Given the description of an element on the screen output the (x, y) to click on. 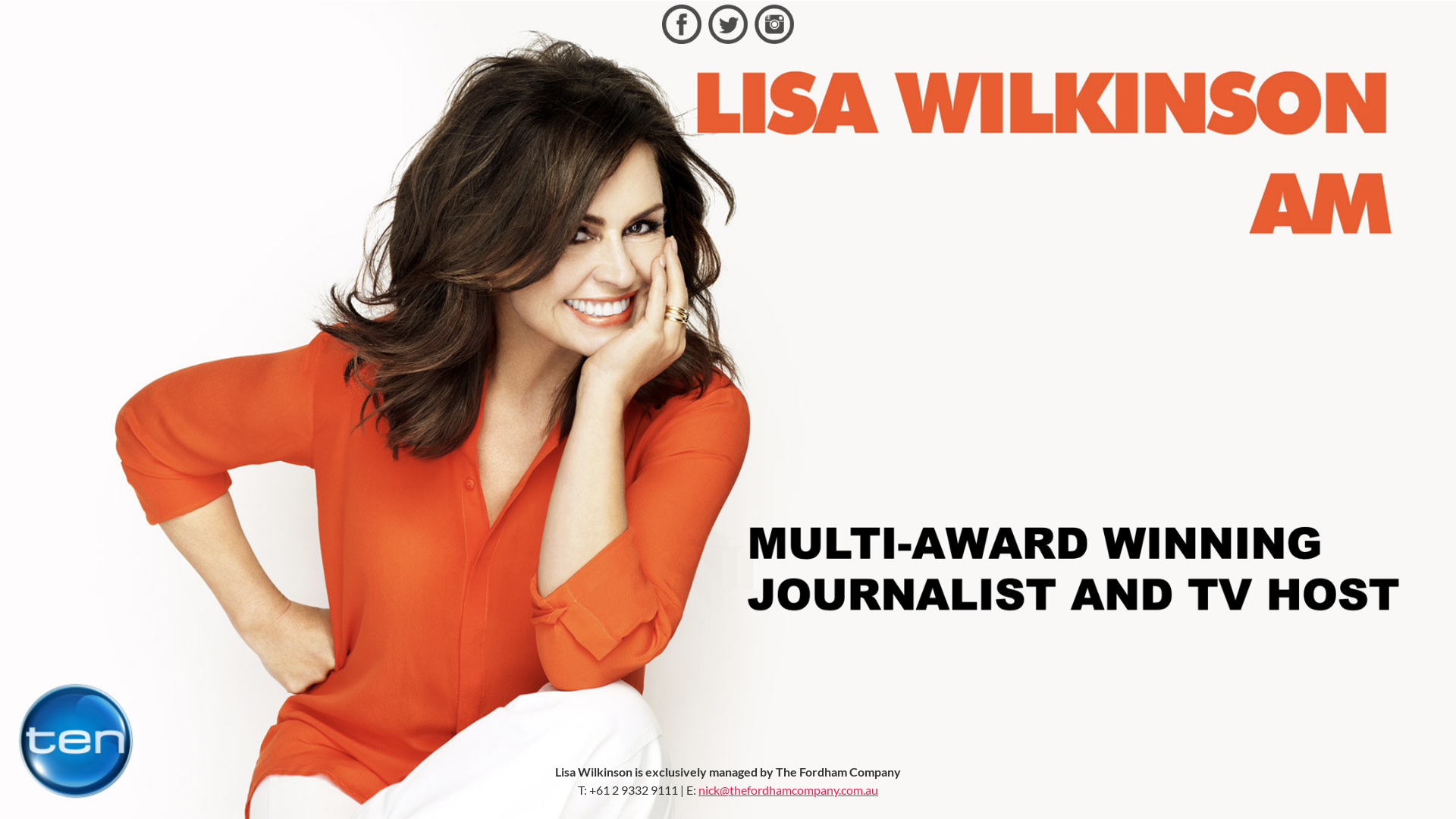
nick@thefordhamcompany.com.au Element type: text (788, 789)
